Given the description of an element on the screen output the (x, y) to click on. 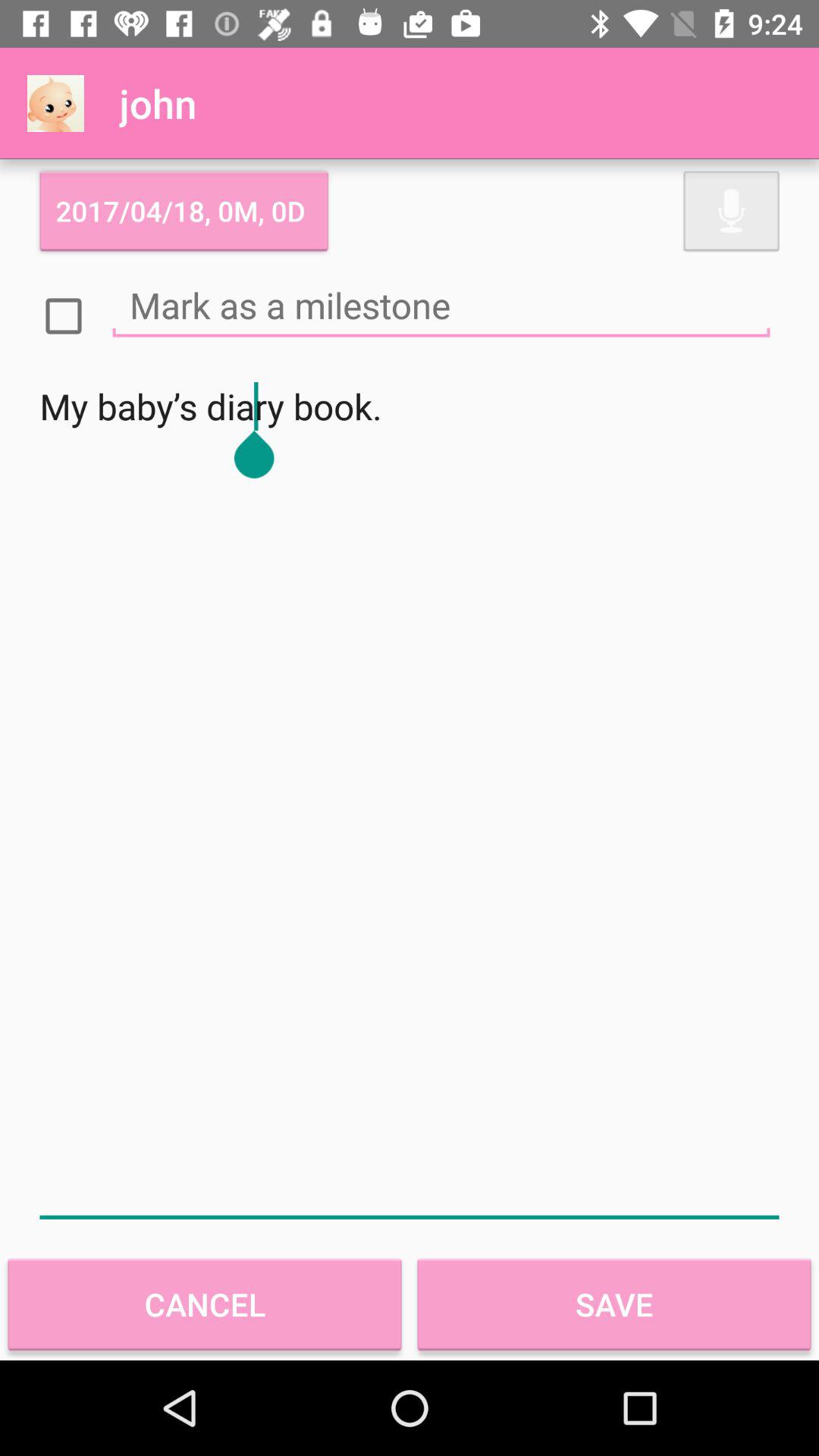
open item to the right of 2017 04 18 icon (731, 210)
